Given the description of an element on the screen output the (x, y) to click on. 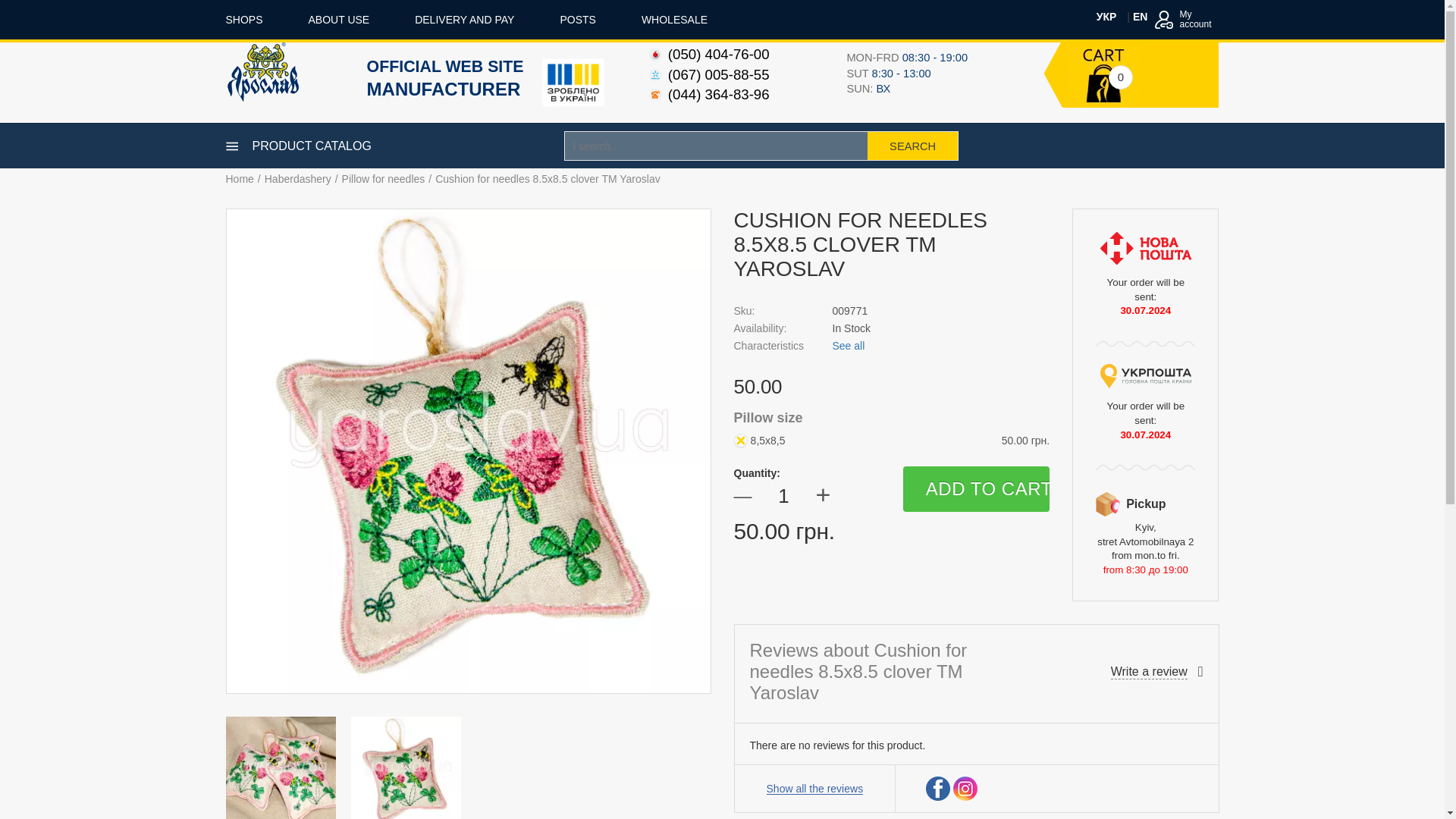
Cushion for needles 8.5x8.5 clover TM Yaroslav (405, 767)
WHOLESALE (674, 19)
POSTS (577, 19)
Search (912, 145)
Search (912, 145)
ABOUT USE (338, 19)
SHOPS (244, 19)
EN (1139, 16)
Cushion for needles 8.5x8.5 clover TM Yaroslav (280, 767)
PRODUCT CATALOG (298, 145)
1 (783, 493)
Search (912, 145)
DELIVERY AND PAY (1182, 19)
